Given the description of an element on the screen output the (x, y) to click on. 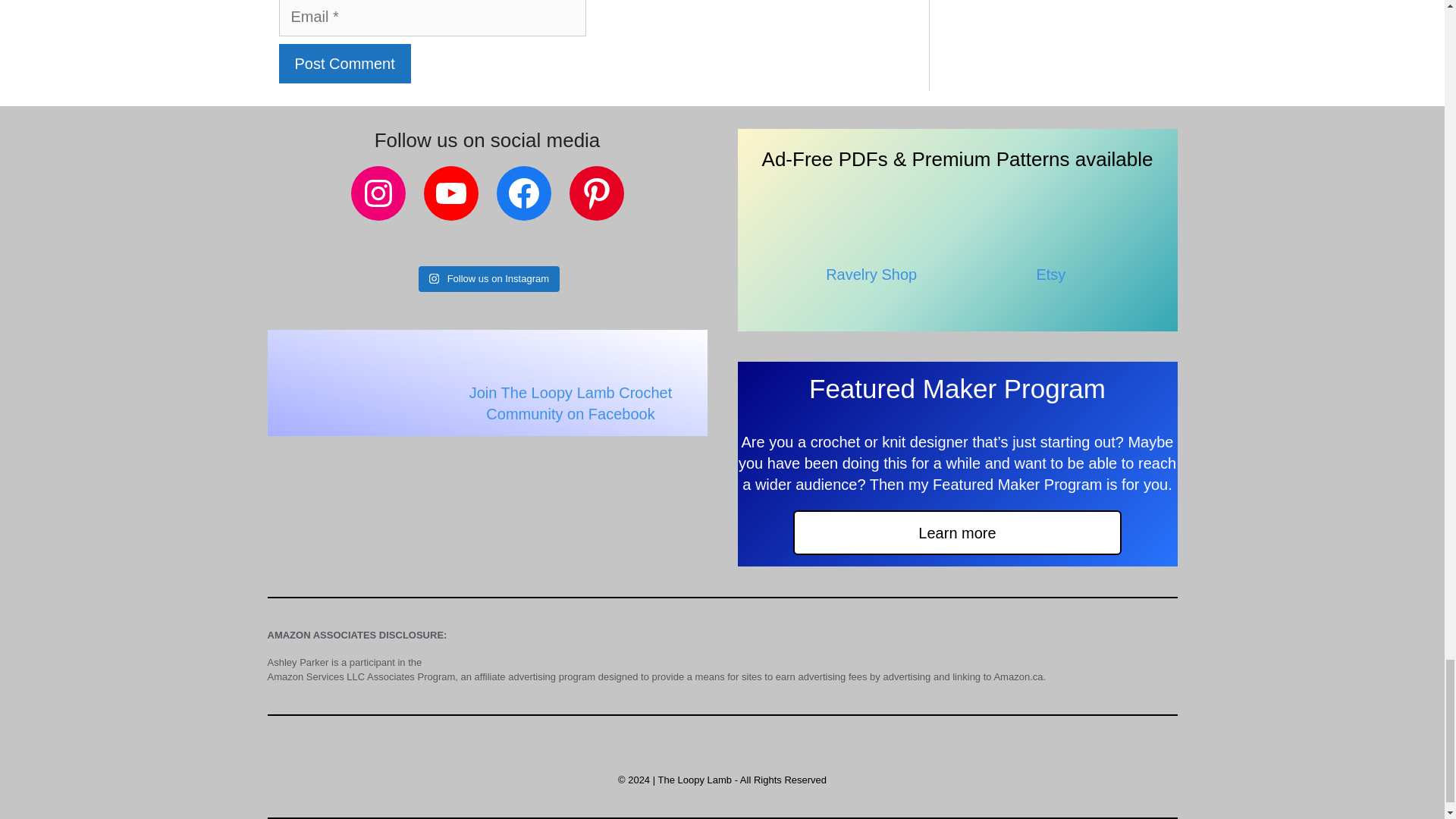
Post Comment (344, 63)
